Given the description of an element on the screen output the (x, y) to click on. 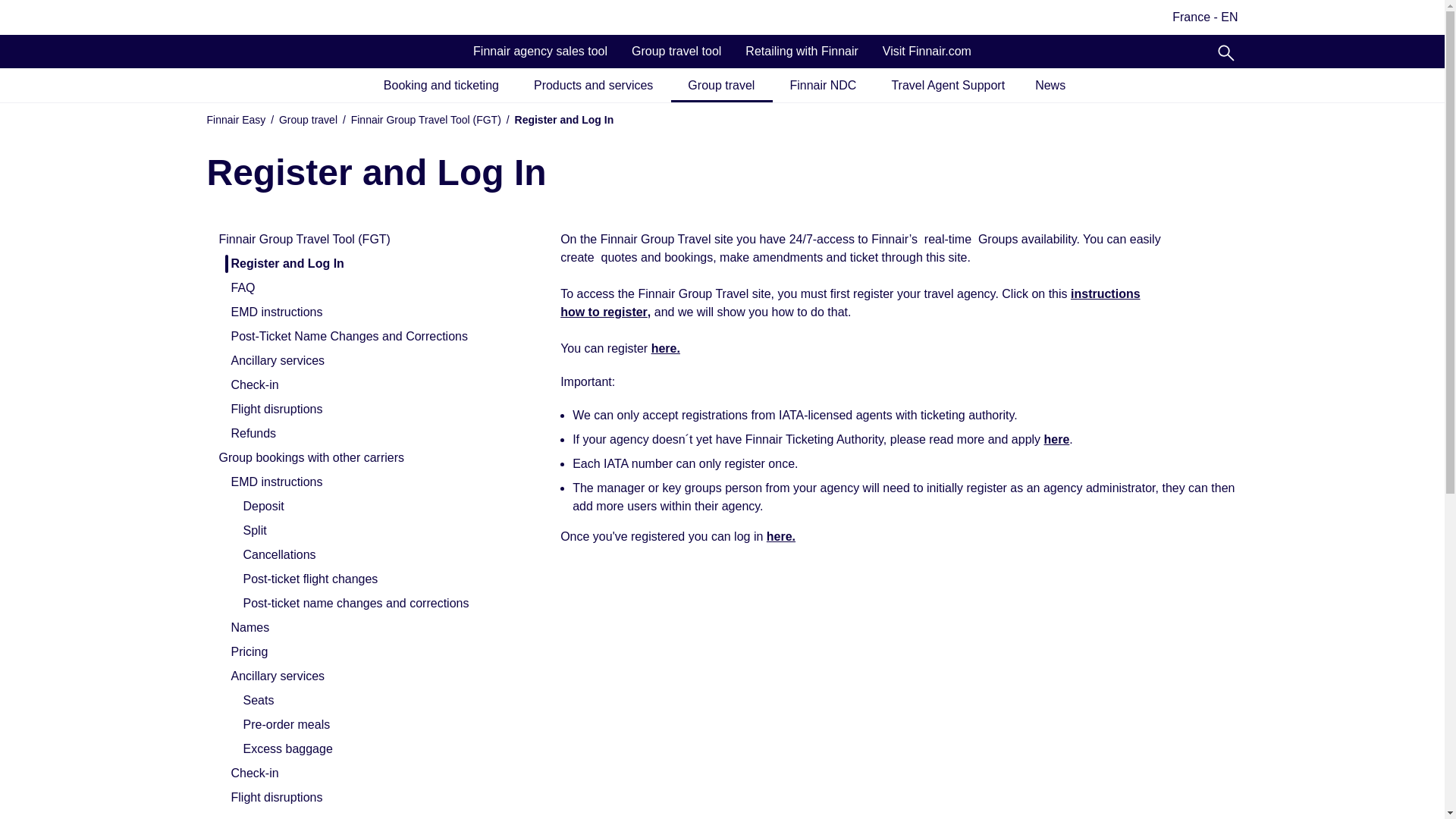
Finnair Easy for travel agents (257, 17)
Visit Finnair.com (926, 51)
France - EN (1195, 17)
Products and services (594, 85)
Finnair agency sales tool (540, 51)
Group travel tool (675, 51)
Retailing with Finnair (802, 51)
Booking and ticketing (441, 85)
